Given the description of an element on the screen output the (x, y) to click on. 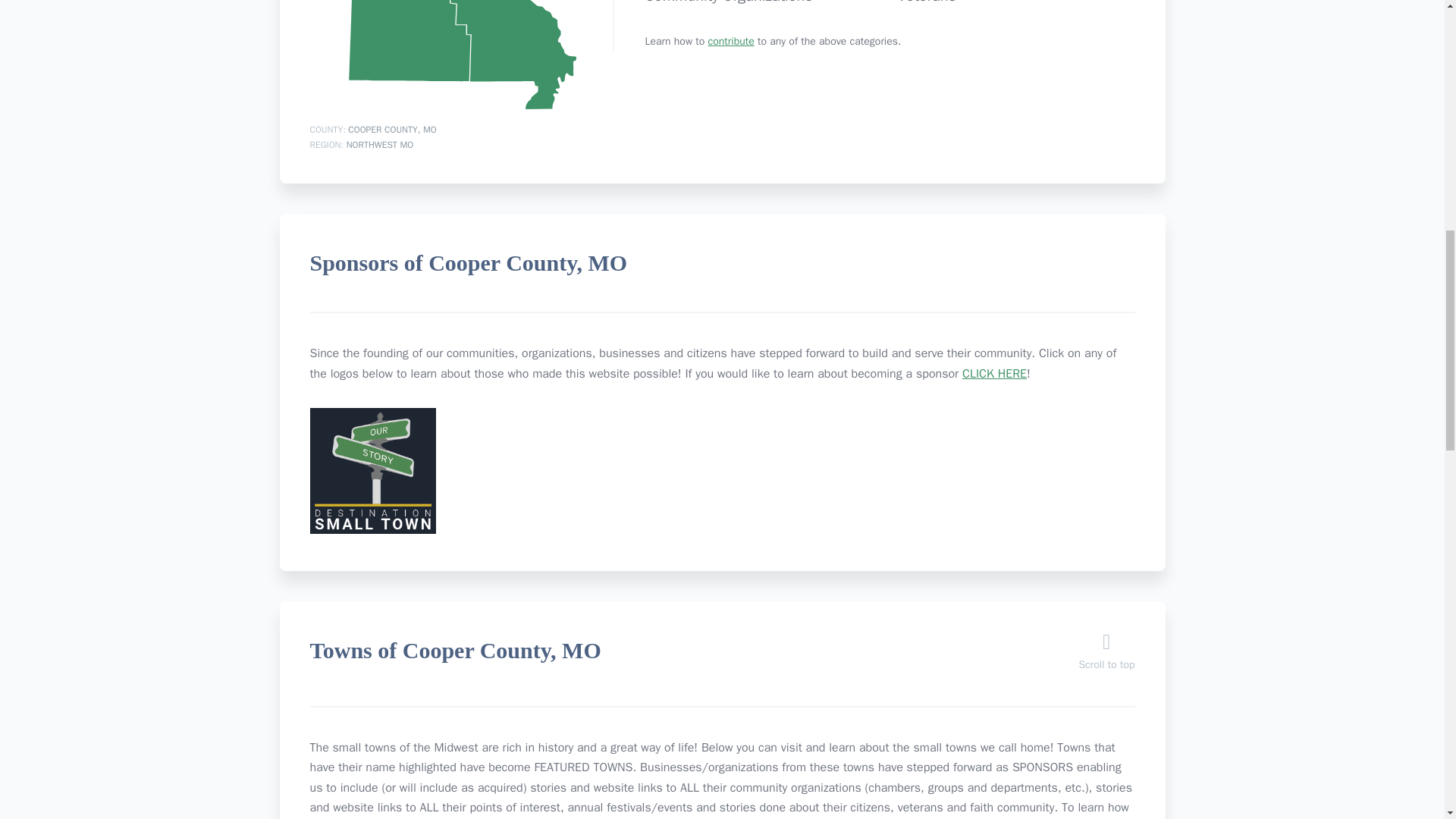
Scroll to top (1106, 656)
Community Organizations (728, 2)
Veterans (925, 2)
CLICK HERE (994, 373)
NORTHWEST MO (379, 144)
contribute (730, 41)
Scroll to top of page (1106, 656)
COOPER COUNTY, MO (391, 129)
